Given the description of an element on the screen output the (x, y) to click on. 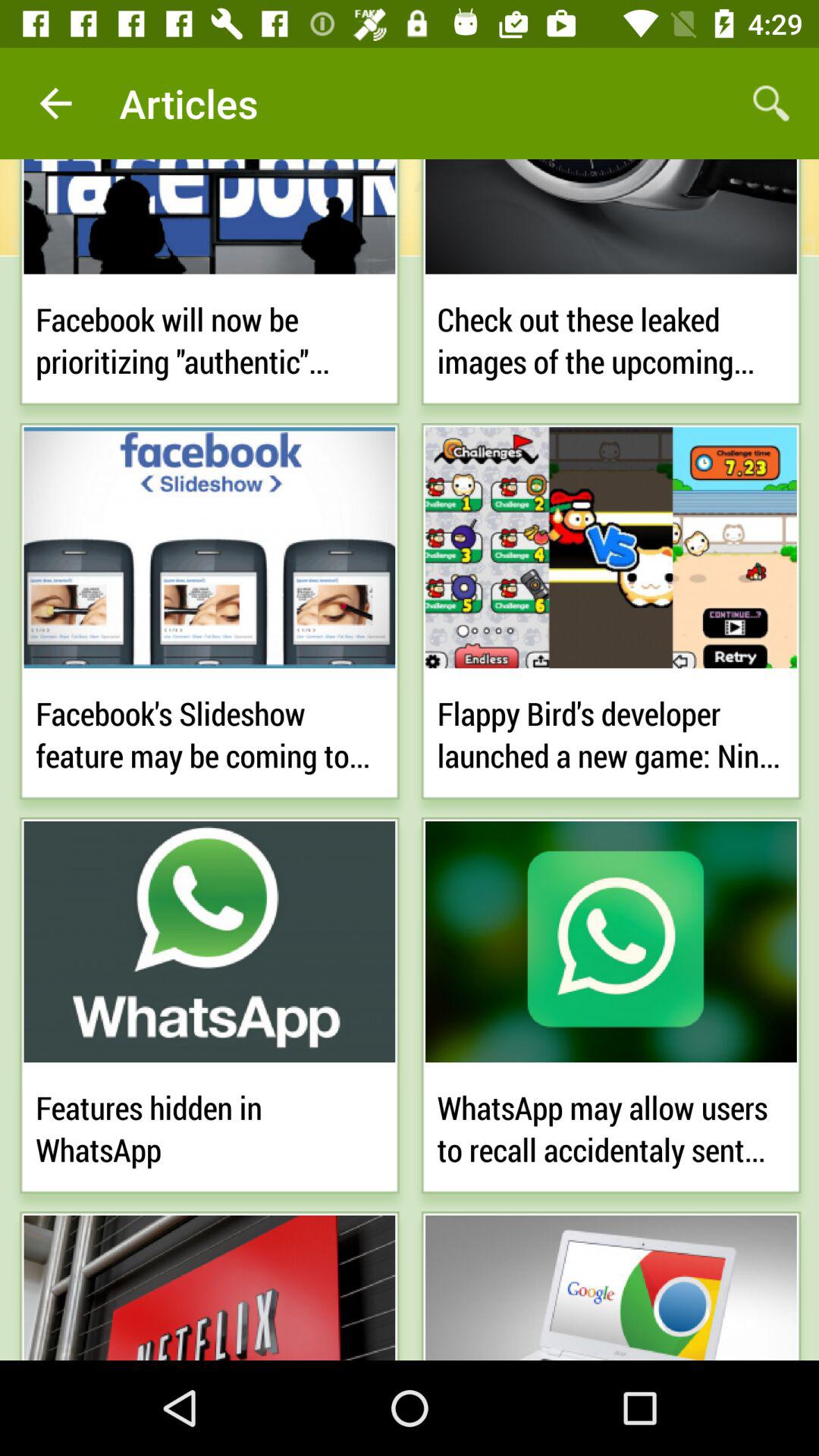
scroll until the features hidden in (209, 1125)
